Given the description of an element on the screen output the (x, y) to click on. 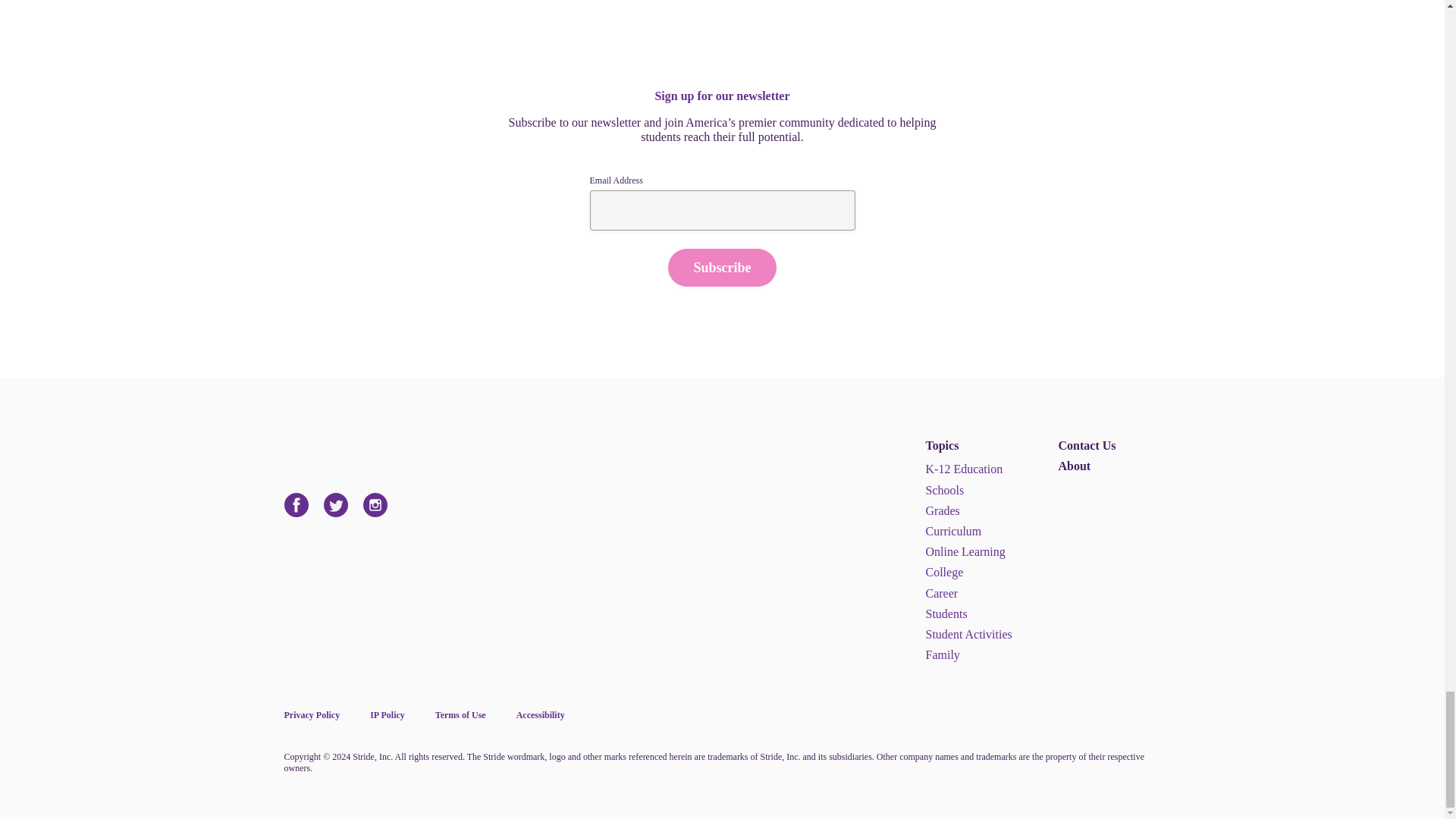
Accessibility Policy (540, 715)
Learning Liftoff Privacy Policy (311, 715)
Subscribe (722, 267)
